Given the description of an element on the screen output the (x, y) to click on. 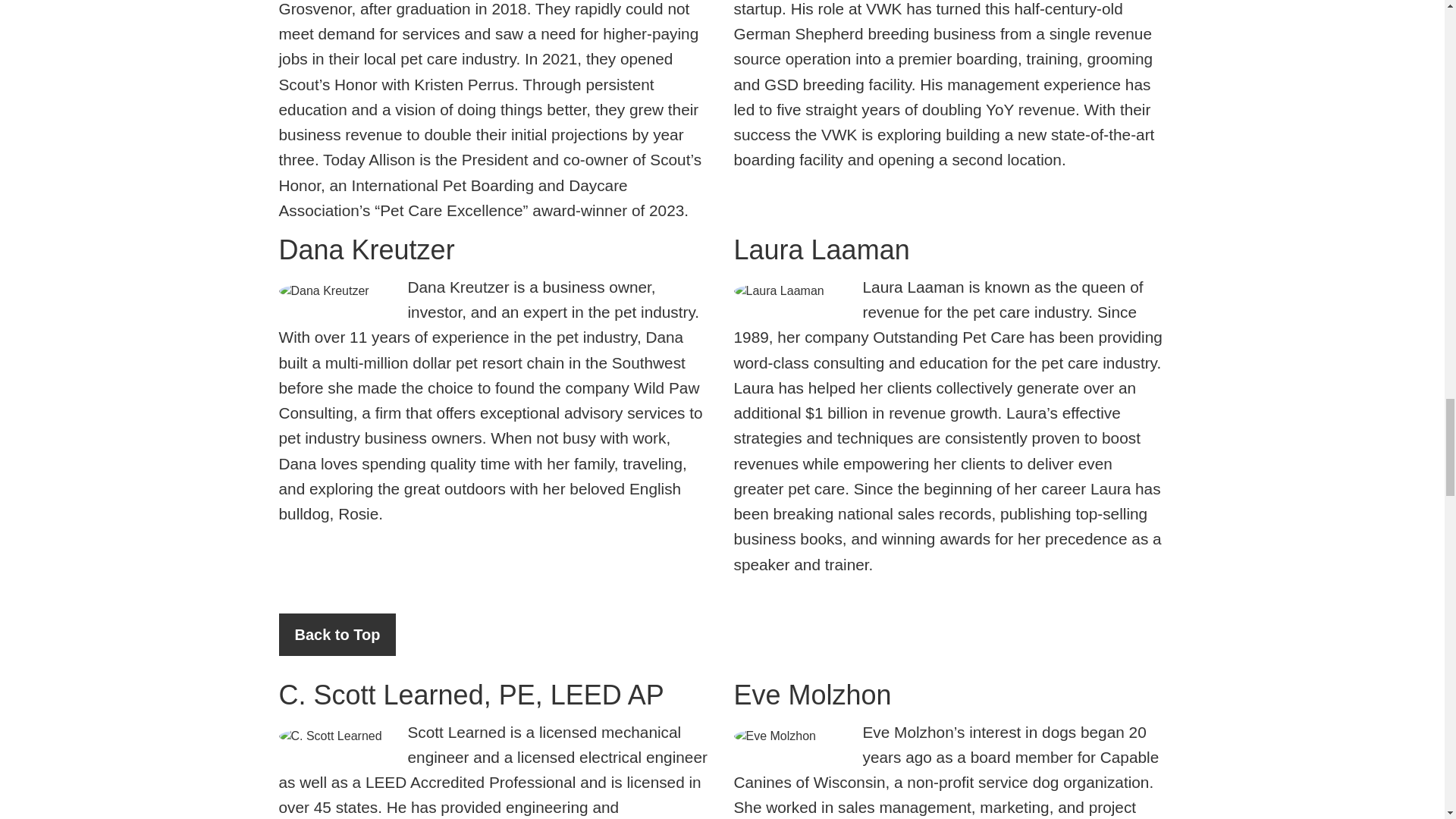
Back to Top (337, 634)
